Given the description of an element on the screen output the (x, y) to click on. 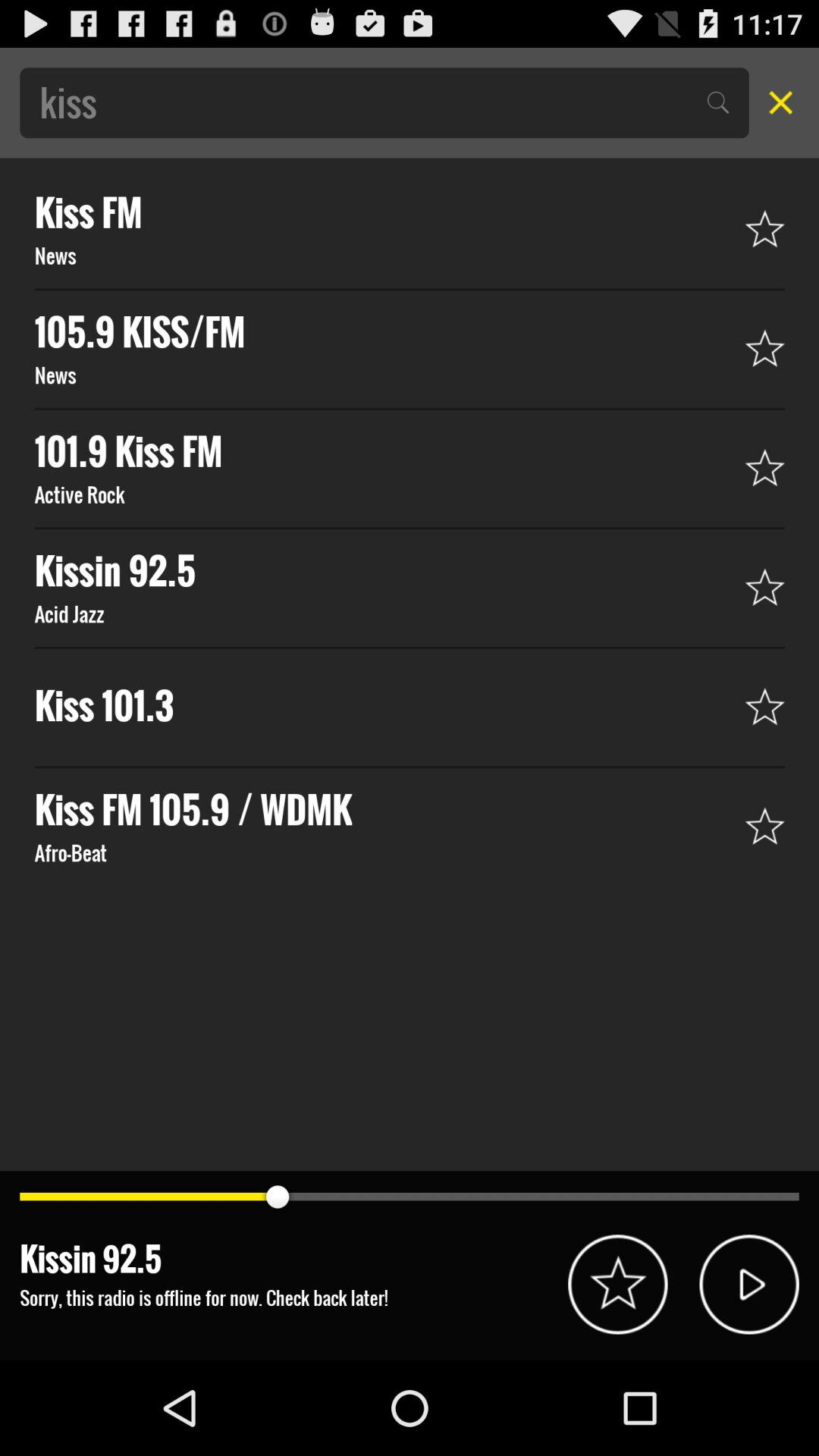
close out (776, 102)
